Given the description of an element on the screen output the (x, y) to click on. 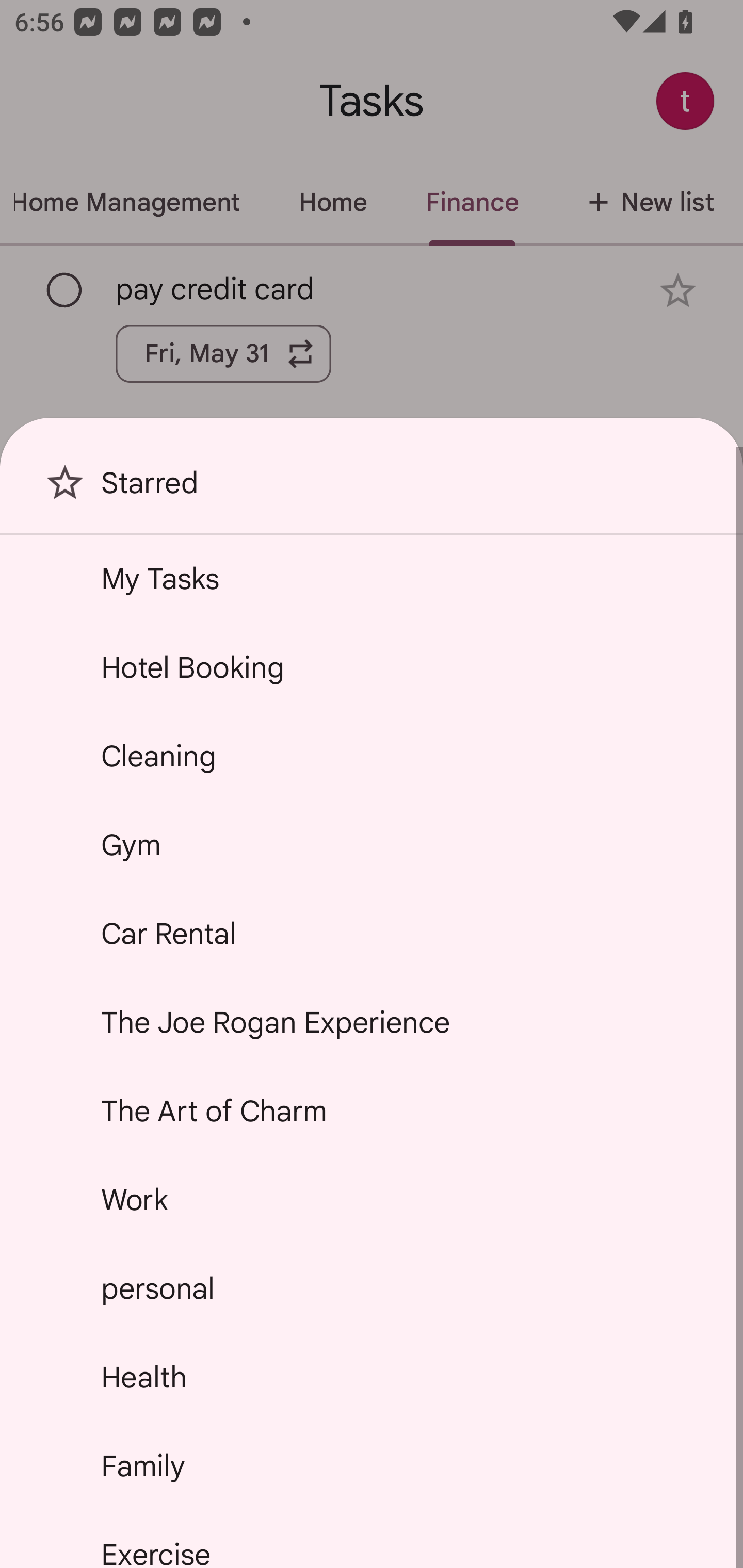
Starred (371, 489)
My Tasks (371, 578)
Hotel Booking (371, 667)
Cleaning (371, 756)
Gym (371, 844)
Car Rental (371, 933)
The Joe Rogan Experience (371, 1022)
The Art of Charm (371, 1110)
Work (371, 1200)
personal (371, 1287)
Health (371, 1377)
Family (371, 1465)
Exercise (371, 1539)
